Given the description of an element on the screen output the (x, y) to click on. 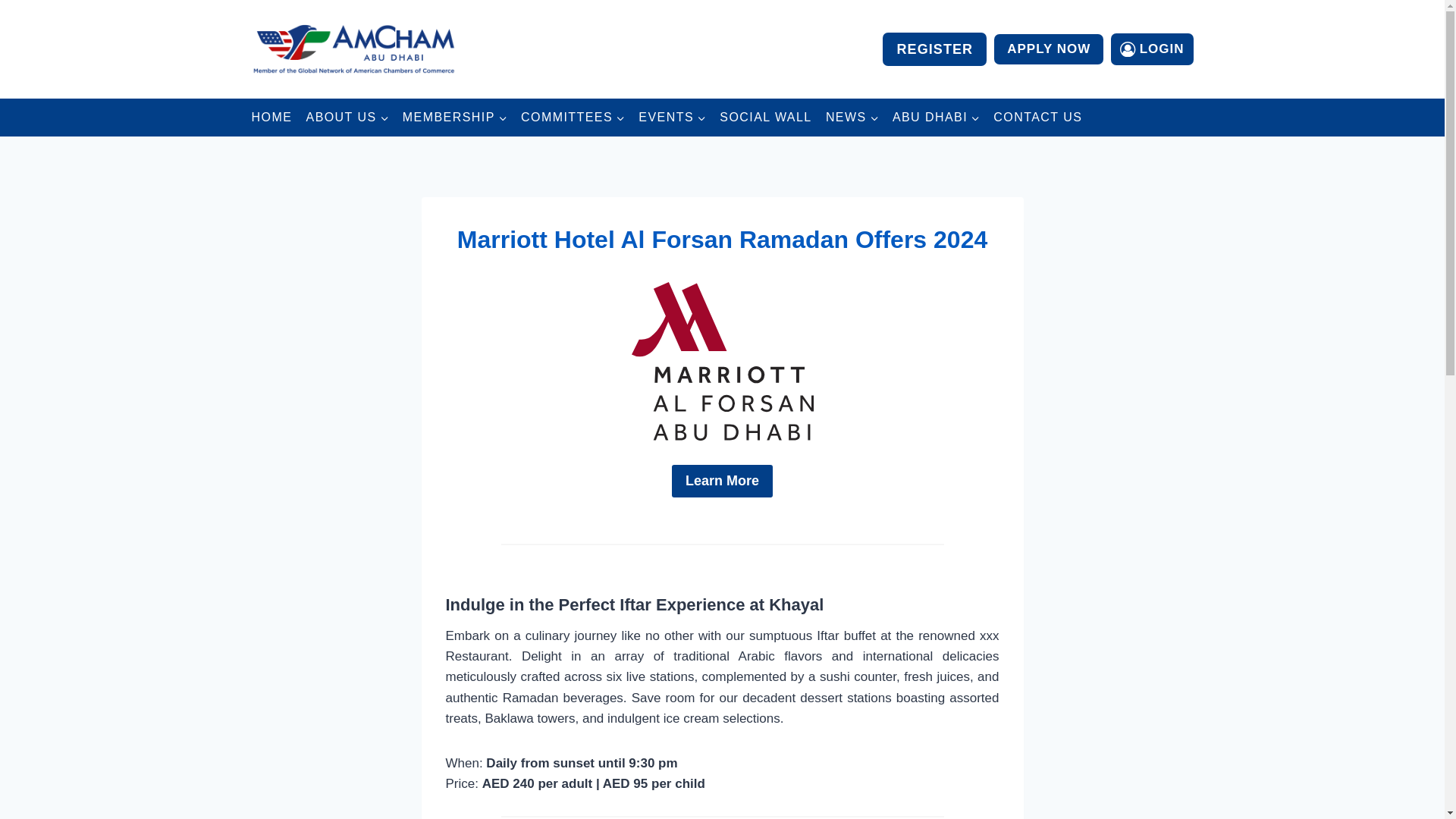
HOME (271, 116)
ABOUT US (346, 116)
COMMITTEES (572, 116)
REGISTER (934, 48)
APPLY NOW (1048, 49)
LOGIN (1151, 48)
MEMBERSHIP (454, 116)
